Given the description of an element on the screen output the (x, y) to click on. 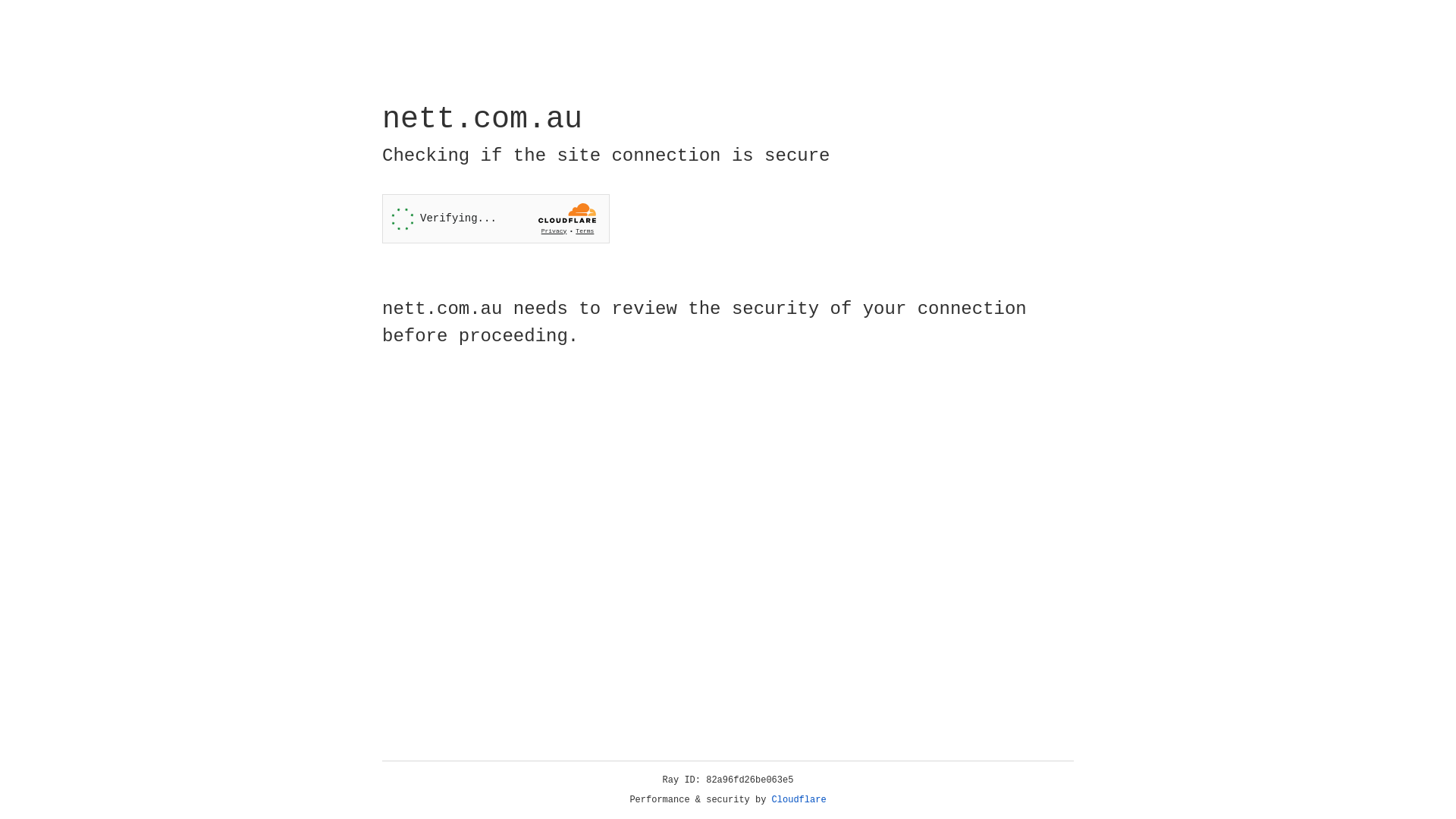
Widget containing a Cloudflare security challenge Element type: hover (495, 218)
Cloudflare Element type: text (798, 799)
